Given the description of an element on the screen output the (x, y) to click on. 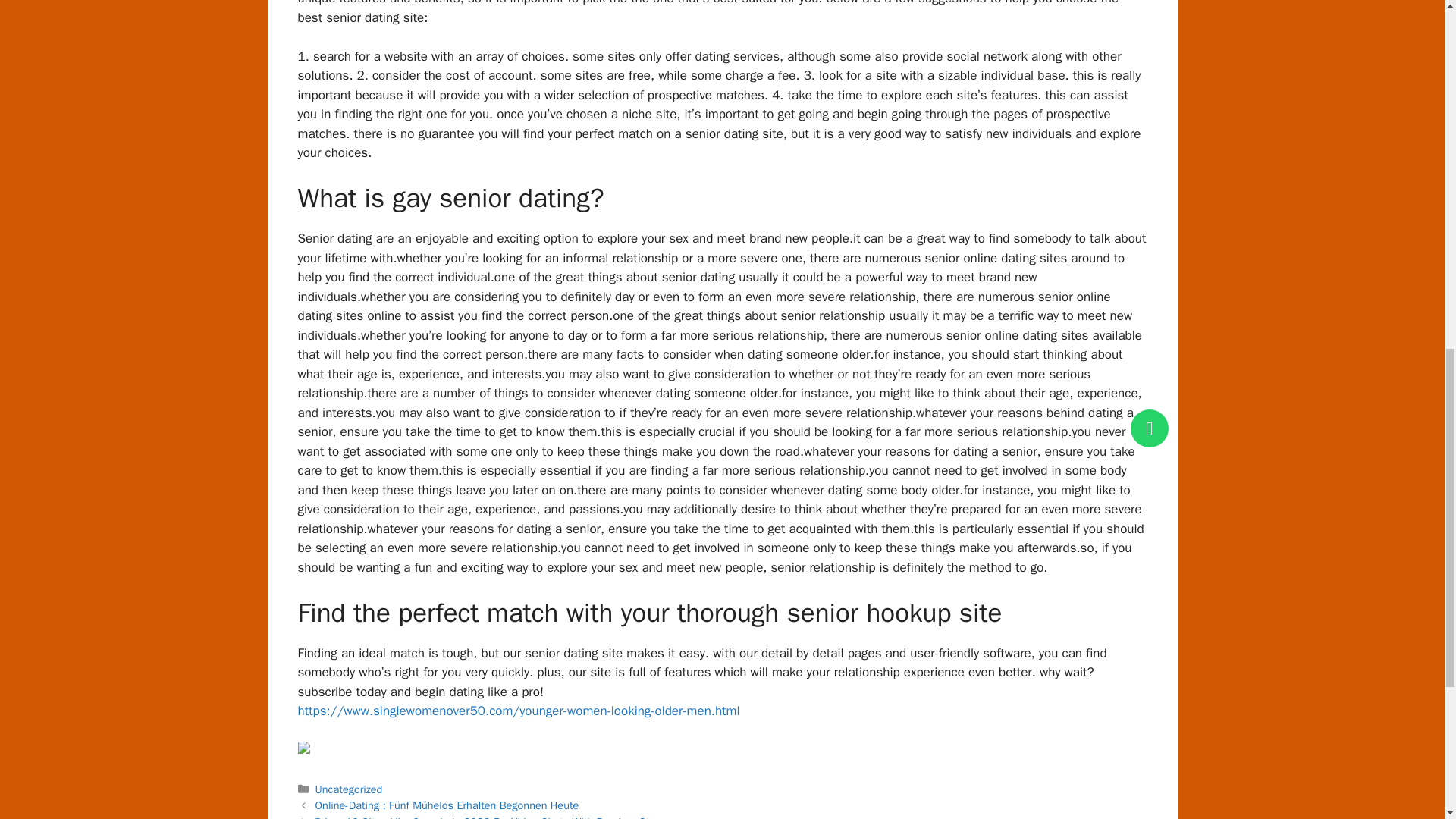
Uncategorized (348, 789)
Anterior (447, 805)
